Given the description of an element on the screen output the (x, y) to click on. 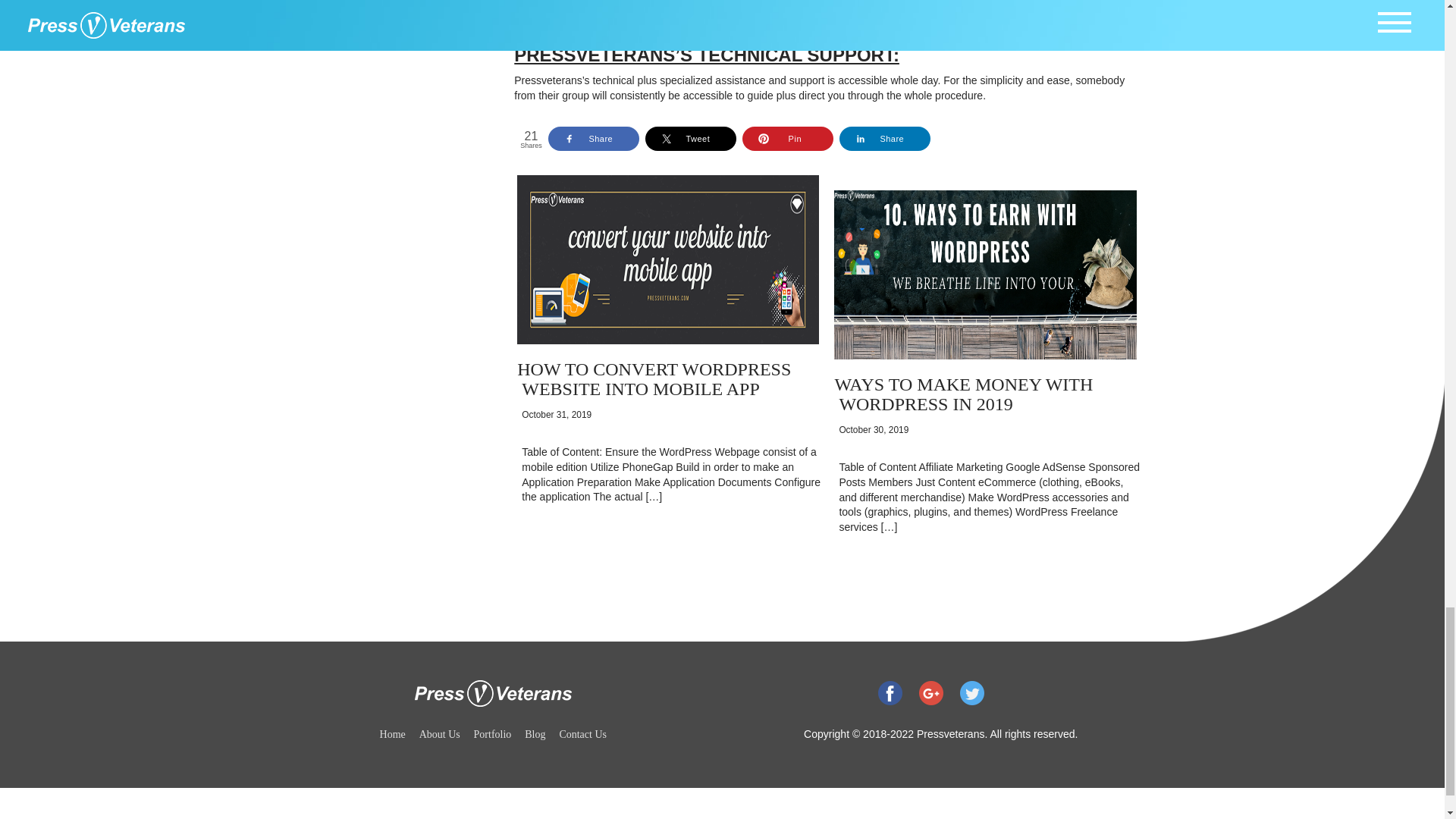
Blog (534, 734)
Contact Us (583, 734)
WAYS TO MAKE MONEY WITH WORDPRESS IN 2019 (963, 394)
About Us (439, 734)
Home (393, 734)
HOW TO CONVERT WORDPRESS WEBSITE INTO MOBILE APP (653, 378)
Portfolio (493, 734)
